Given the description of an element on the screen output the (x, y) to click on. 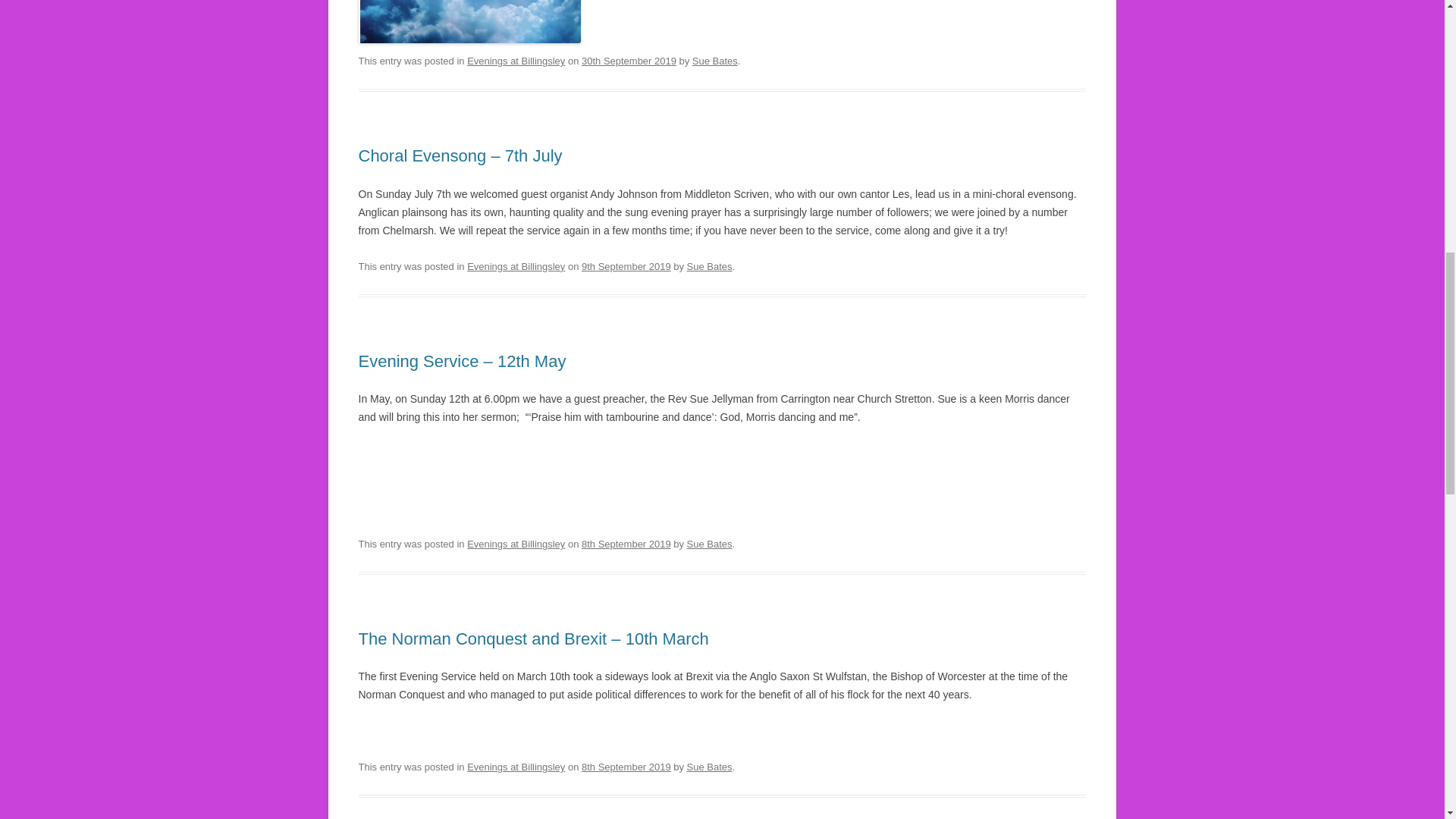
View all posts by Sue Bates (709, 543)
Evenings at Billingsley (515, 767)
View all posts by Sue Bates (709, 266)
Sue Bates (709, 767)
Evenings at Billingsley (515, 543)
Sue Bates (709, 266)
10:05 pm (625, 767)
Evenings at Billingsley (515, 266)
Sue Bates (709, 543)
9th September 2019 (625, 266)
8th September 2019 (625, 543)
8th September 2019 (625, 767)
12:55 pm (625, 266)
8:34 pm (628, 60)
Sue Bates (715, 60)
